Given the description of an element on the screen output the (x, y) to click on. 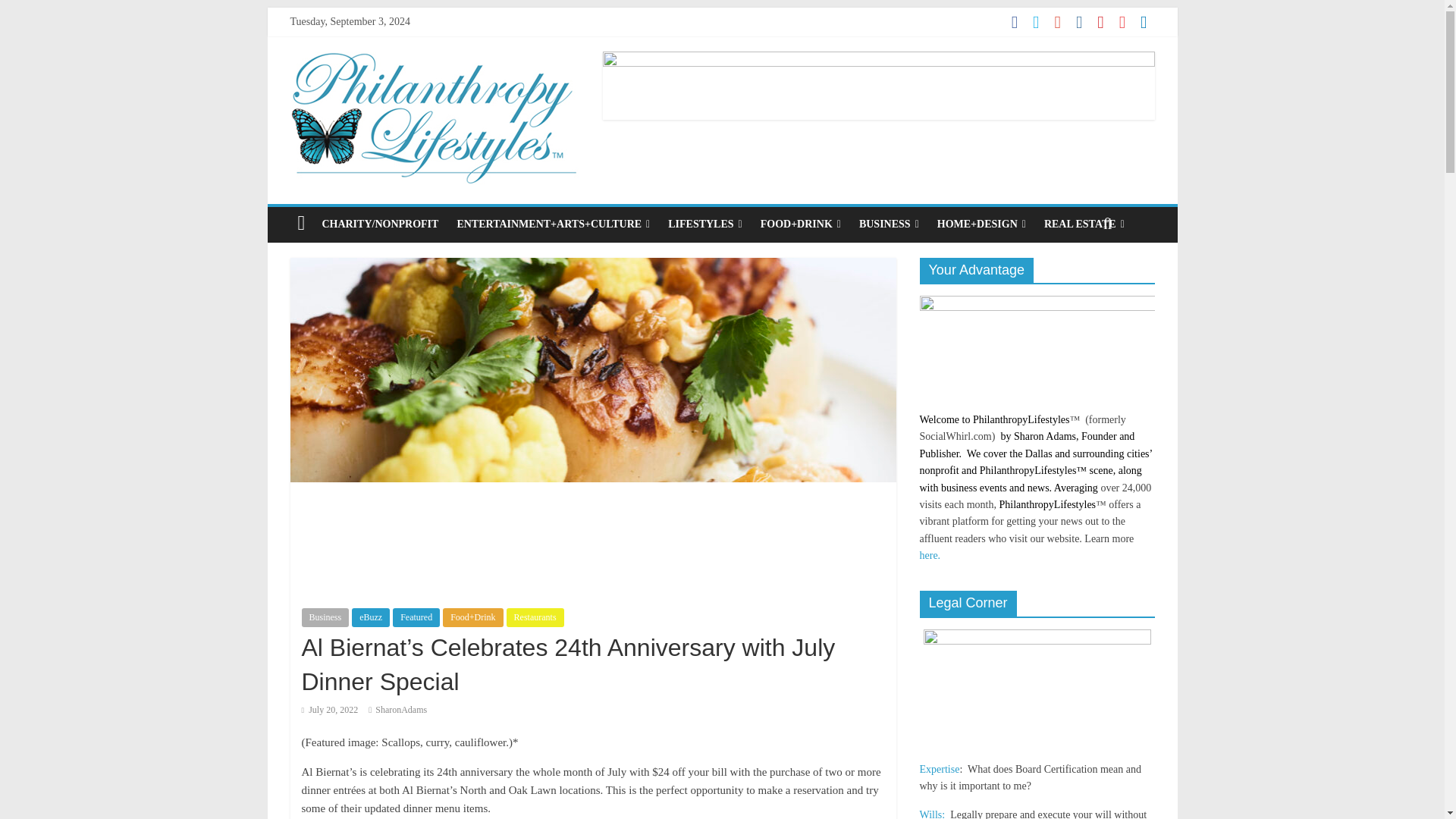
LIFESTYLES (705, 224)
11:42 am (329, 709)
REAL ESTATE (1084, 224)
BUSINESS (889, 224)
SocialWhirl is now Philanthropy Lifestyles (433, 60)
SharonAdams (400, 709)
